Given the description of an element on the screen output the (x, y) to click on. 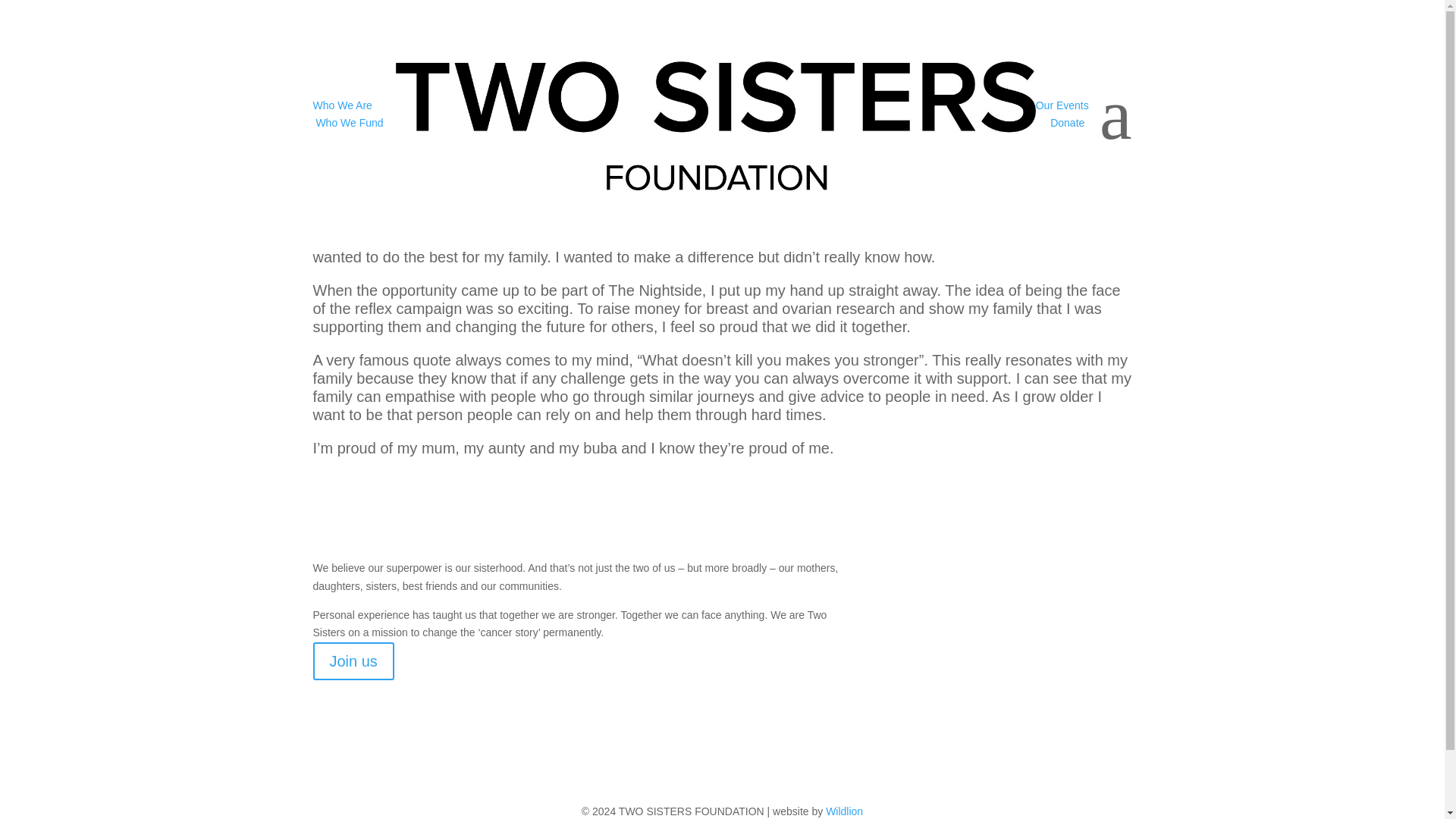
Who We Fund (348, 122)
Wildlion (844, 811)
Donate (1066, 122)
Who We Are (342, 104)
Our Events (1062, 104)
Join us (353, 661)
